Given the description of an element on the screen output the (x, y) to click on. 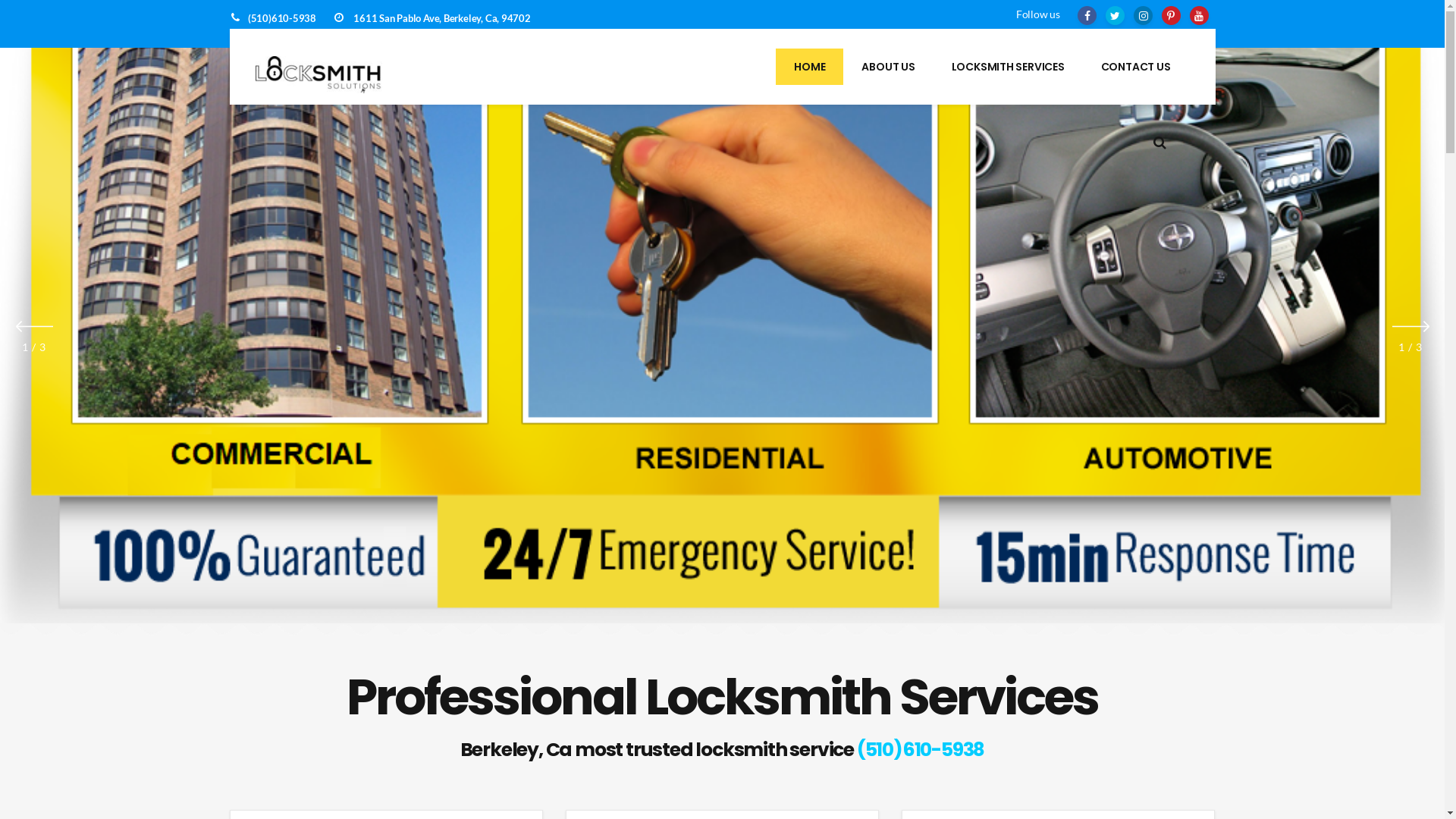
HOME Element type: text (809, 66)
ABOUT US Element type: text (887, 66)
CONTACT US Element type: text (1135, 66)
LOCKSMITH SERVICES Element type: text (1007, 66)
